Given the description of an element on the screen output the (x, y) to click on. 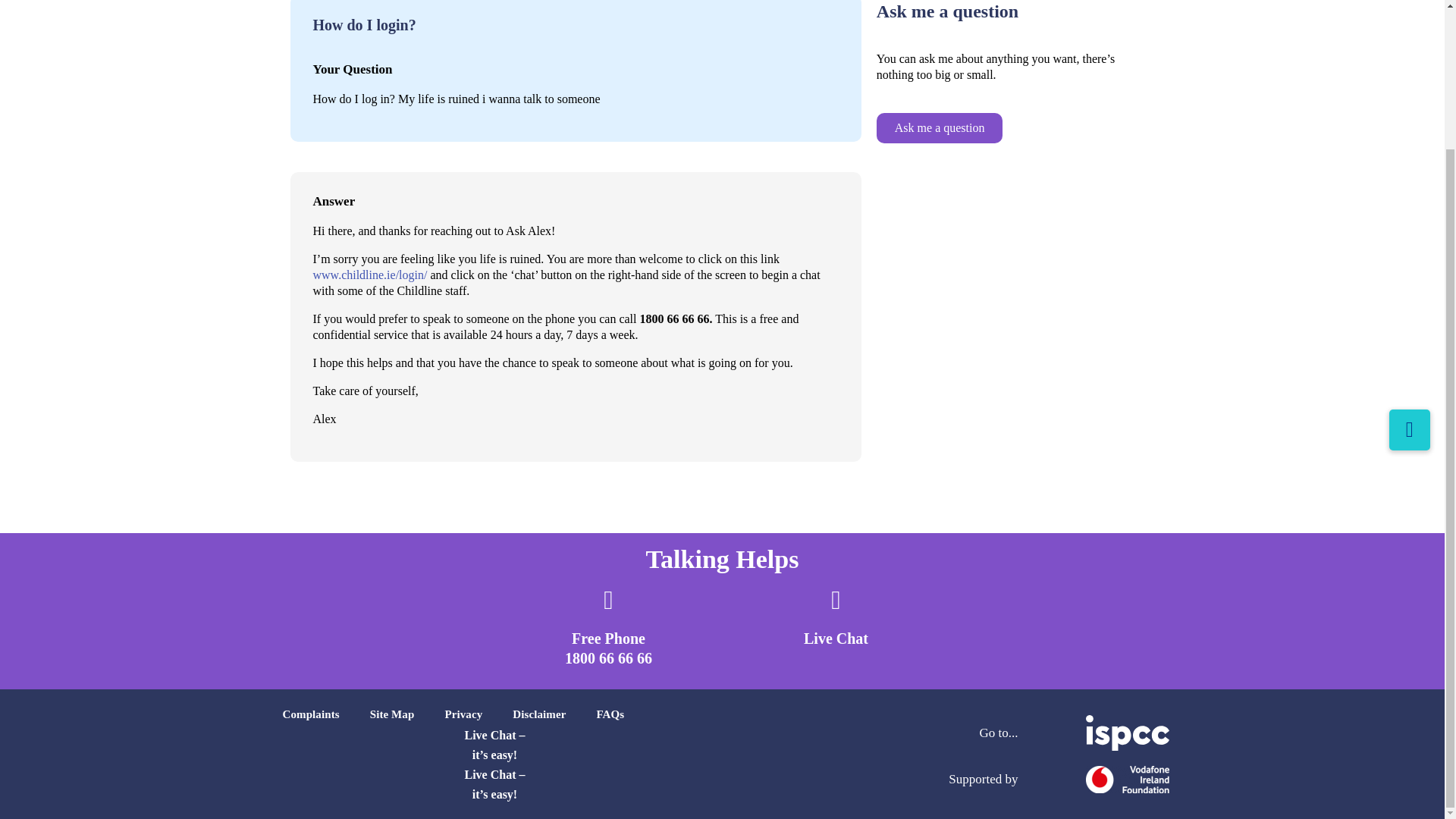
ISPCC-Logo-White (1127, 732)
